Given the description of an element on the screen output the (x, y) to click on. 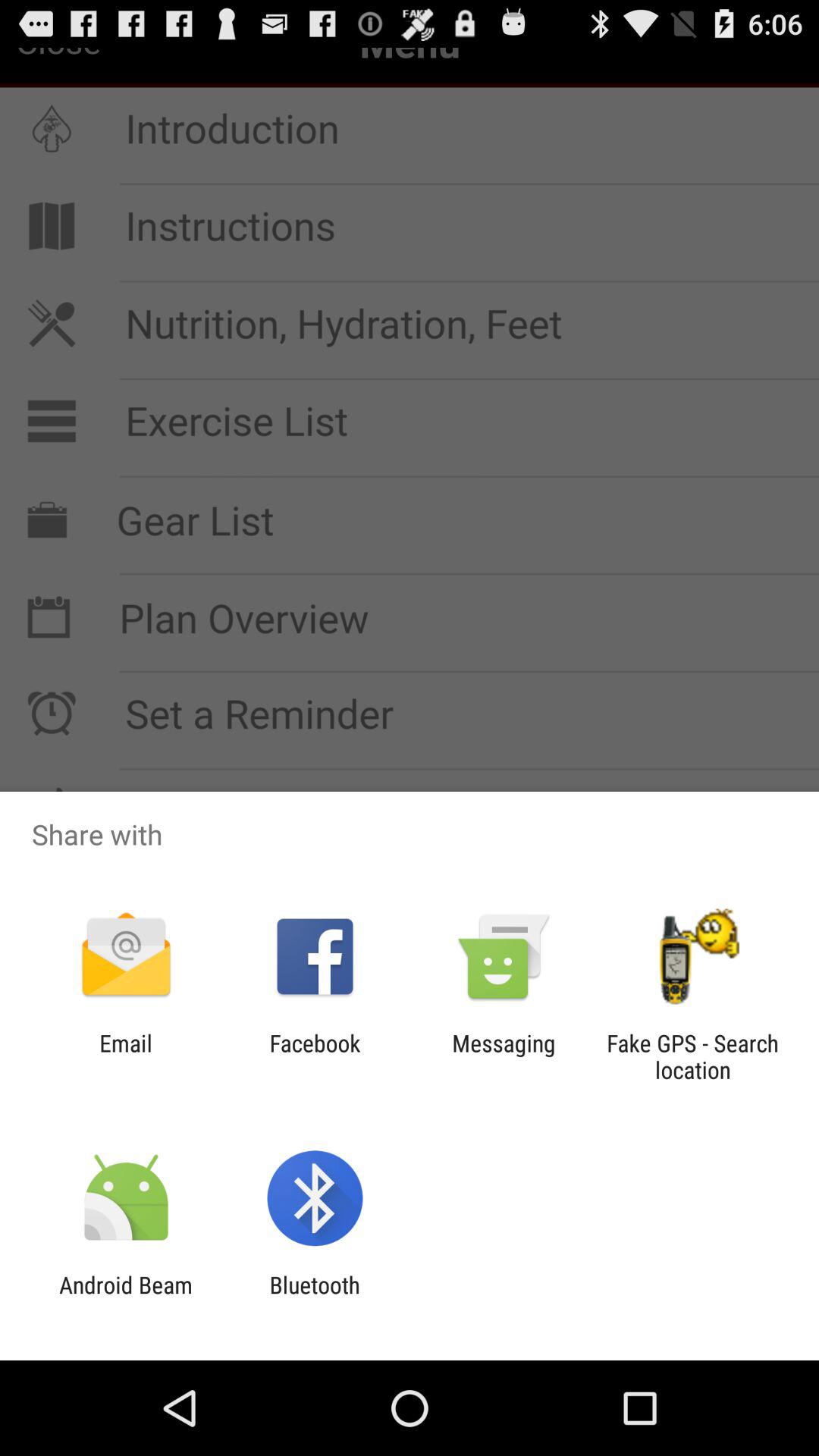
turn off icon to the left of the facebook item (125, 1056)
